Given the description of an element on the screen output the (x, y) to click on. 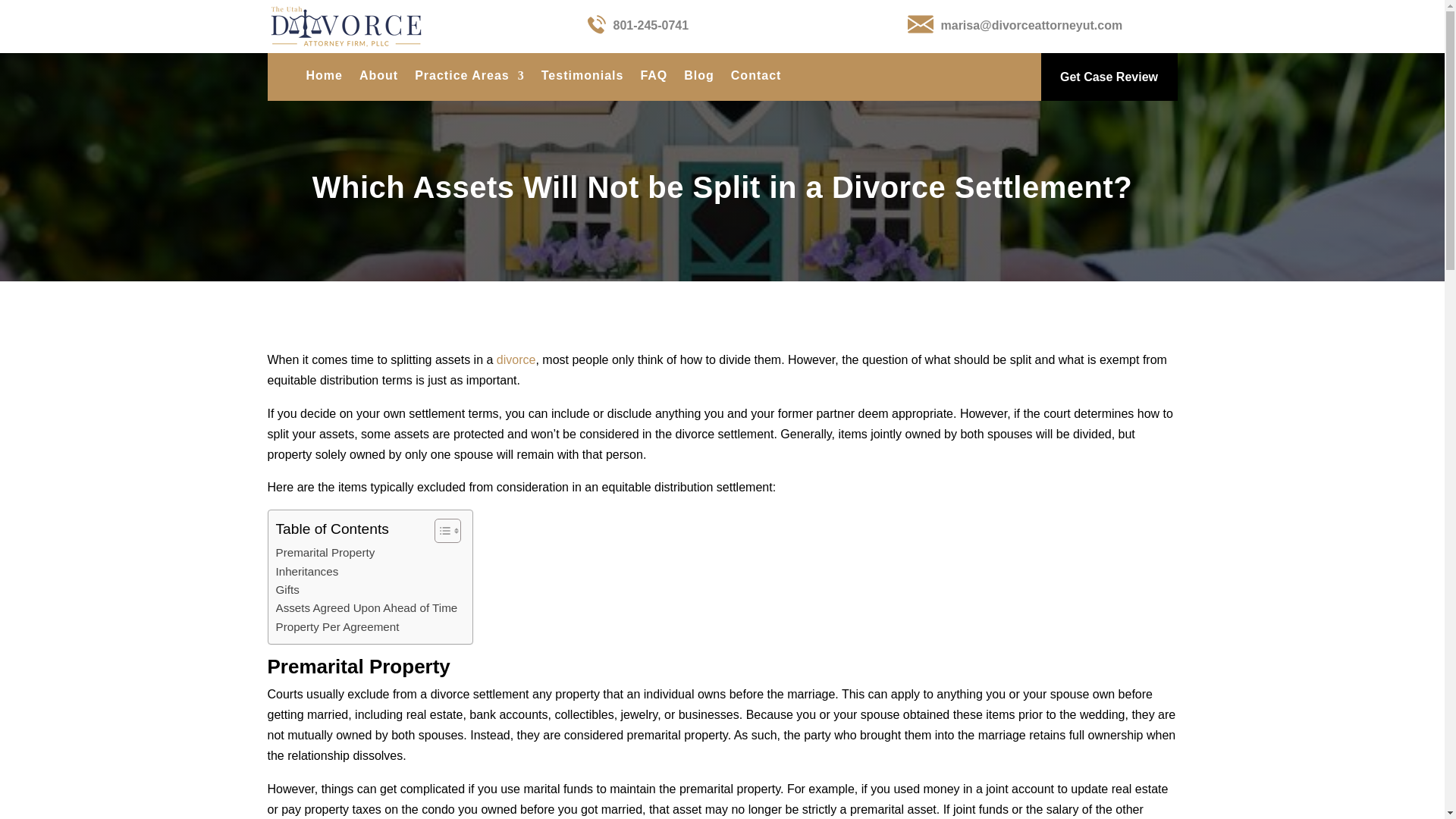
Blog (699, 78)
Testimonials (582, 78)
FAQ (653, 78)
801-245-0741 (650, 24)
Utah Divorce Attorney (378, 78)
envelope icon (920, 24)
phone icon (595, 24)
Home (323, 78)
About (378, 78)
Divorce Lawyer: Utah Custody Expert Law Firm Helping Parents (323, 78)
Practice Areas (469, 78)
Contact (755, 78)
the-divorce-attorney-utah-firm (344, 26)
The Utah Divorce Attorney Firm, PLLC Testimonials (582, 78)
